Given the description of an element on the screen output the (x, y) to click on. 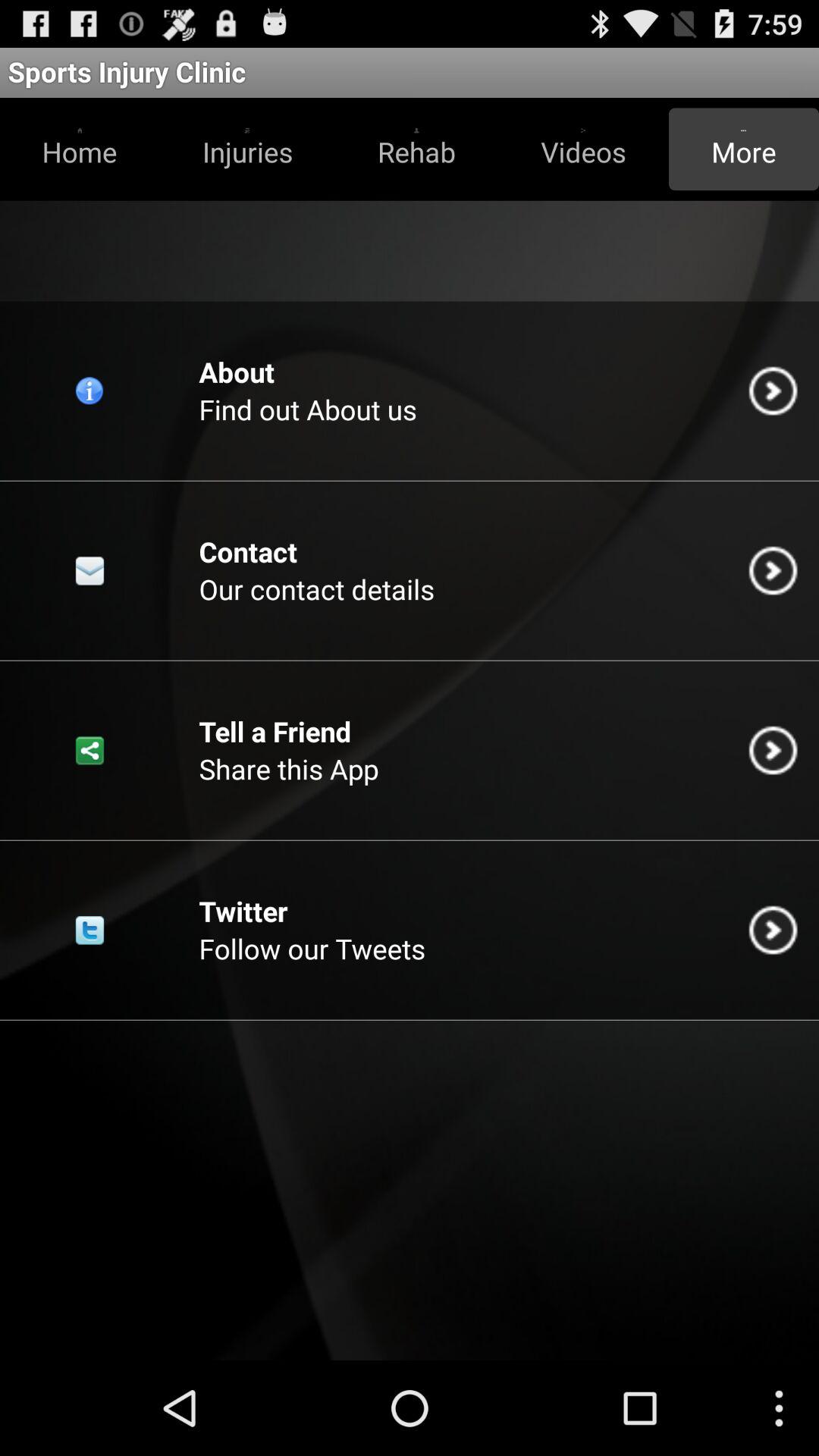
press rehab (416, 149)
